Given the description of an element on the screen output the (x, y) to click on. 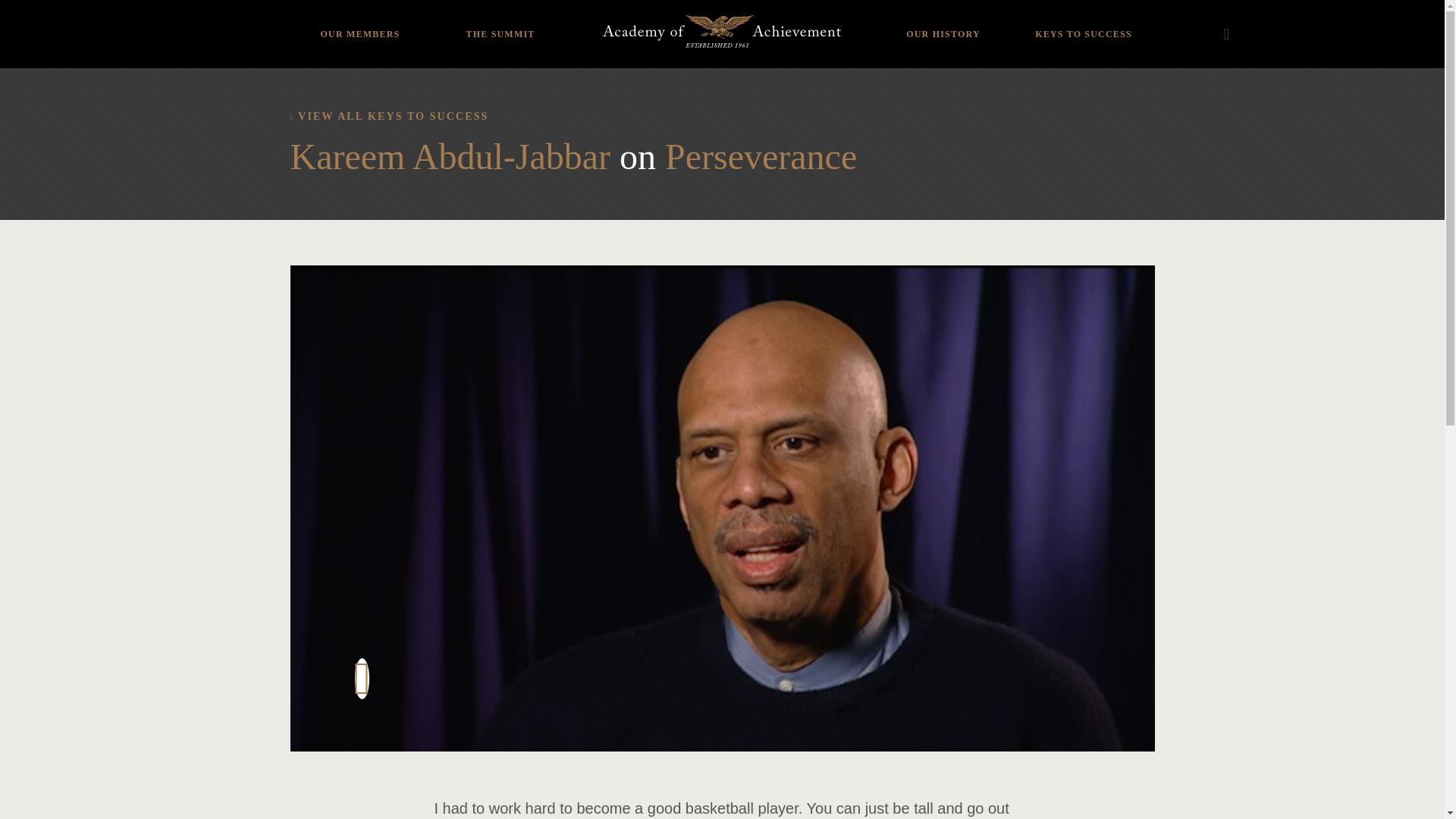
2002 (464, 23)
KEYS TO SUCCESS (1083, 22)
GOLDEN PLATE AWARDEES (943, 18)
ACHIEVER UNIVERSE (359, 23)
SPORTS (359, 5)
OUR MEMBERS (359, 22)
OUR HISTORY (943, 22)
THE SUMMIT (500, 22)
2003 (464, 5)
